Given the description of an element on the screen output the (x, y) to click on. 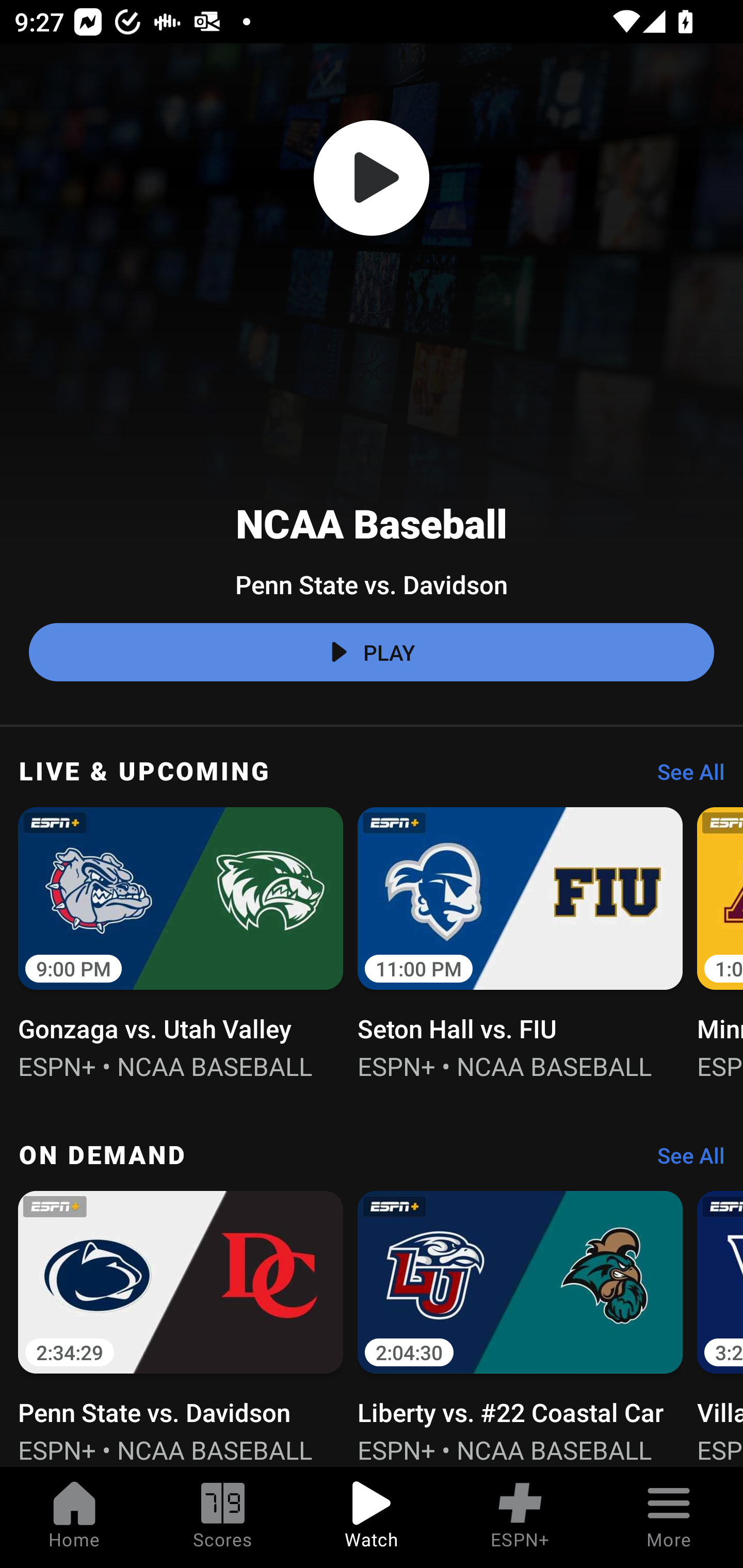
 (371, 177)
PLAY (371, 652)
See All (683, 776)
11:00 PM Seton Hall vs. FIU ESPN+ • NCAA BASEBALL (519, 941)
See All (683, 1159)
Home (74, 1517)
Scores (222, 1517)
ESPN+ (519, 1517)
More (668, 1517)
